Given the description of an element on the screen output the (x, y) to click on. 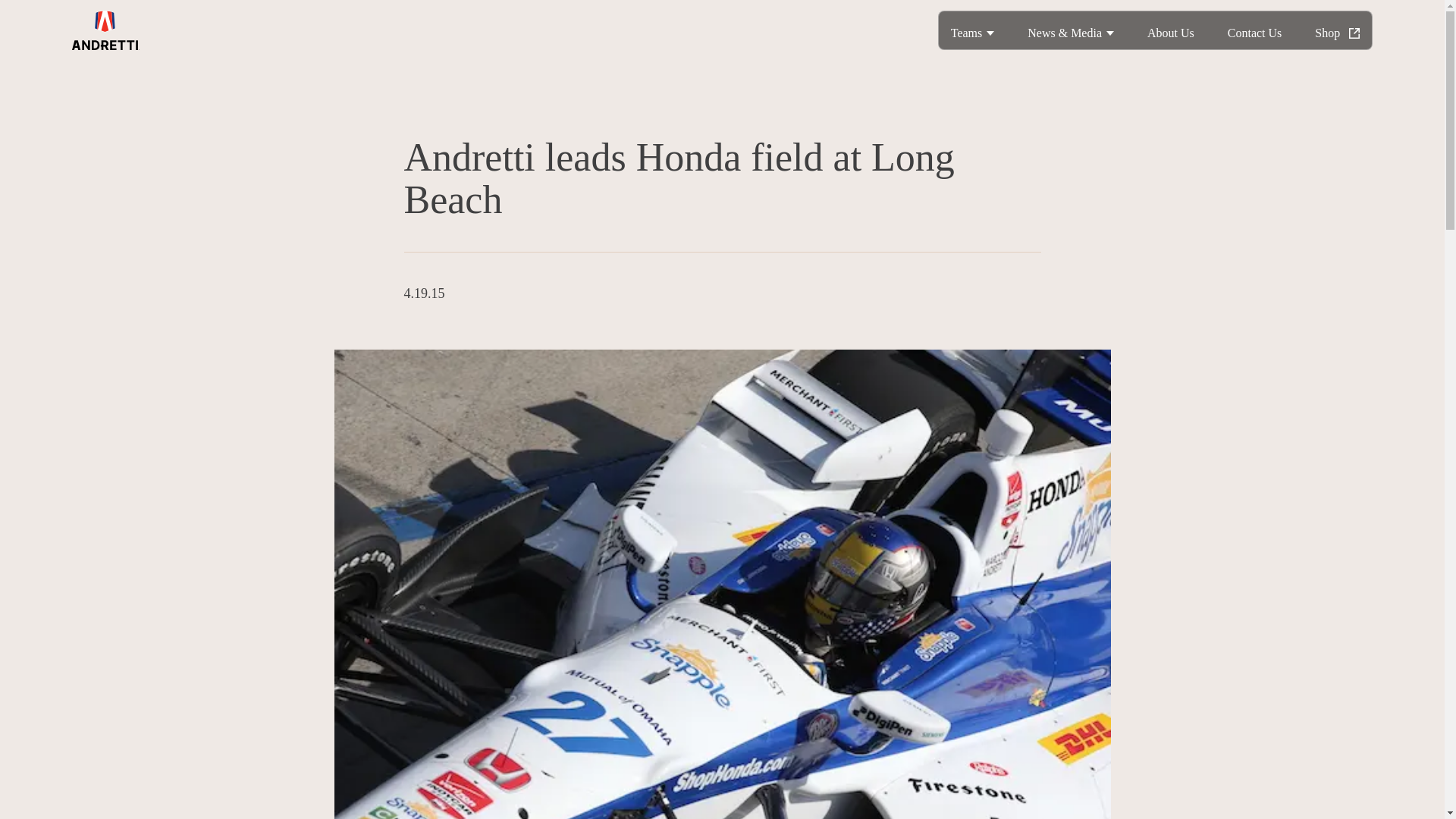
Click to visit the home page (105, 29)
Contact Us (1254, 29)
About Us (1171, 29)
Shop (1337, 29)
